Given the description of an element on the screen output the (x, y) to click on. 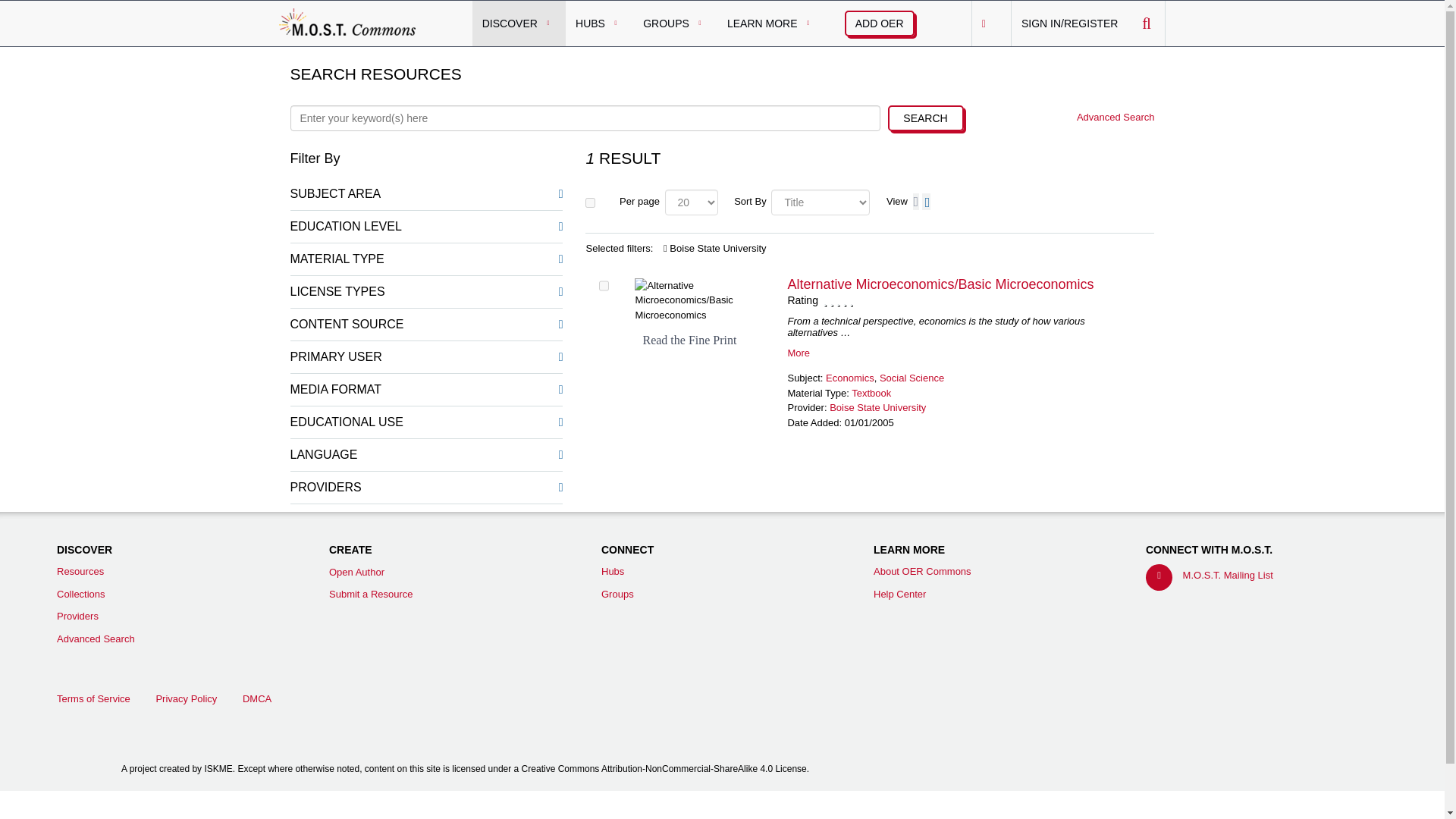
LEARN MORE (771, 22)
Show add OER options (879, 23)
ADD OER (879, 23)
on (590, 202)
Search keywords (584, 118)
GROUPS (675, 22)
DISCOVER (518, 22)
HUBS (599, 22)
